Given the description of an element on the screen output the (x, y) to click on. 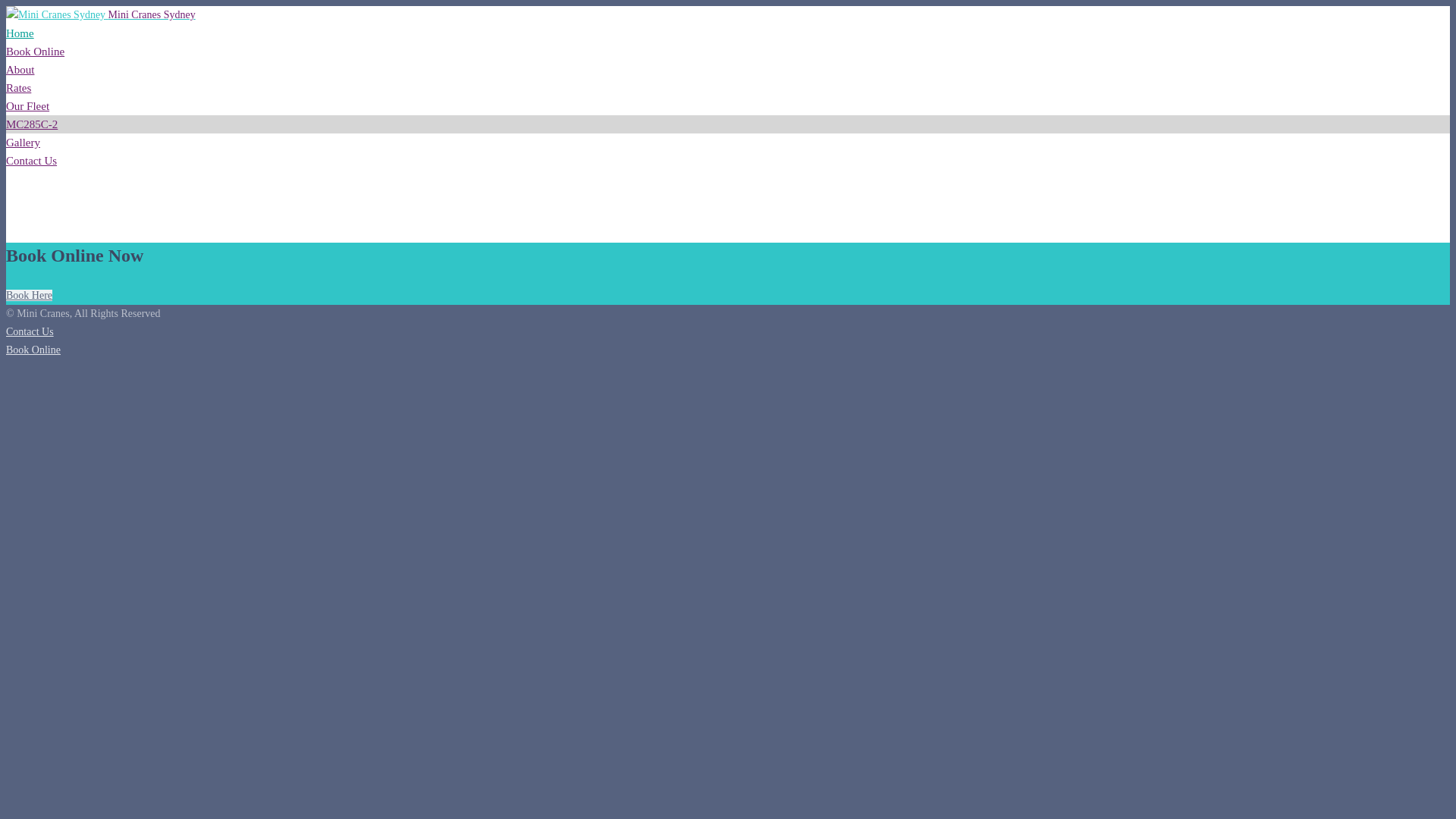
Rates Element type: text (18, 87)
Contact Us Element type: text (29, 331)
Contact Us Element type: text (31, 160)
Mini Cranes Sydney Element type: text (100, 14)
Book Online Element type: text (35, 51)
About Element type: text (20, 69)
Gallery Element type: text (23, 142)
Home Element type: text (20, 33)
Book Here Element type: text (29, 295)
Book Online Element type: text (33, 349)
Our Fleet Element type: text (27, 106)
MC285C-2 Element type: text (31, 124)
